Given the description of an element on the screen output the (x, y) to click on. 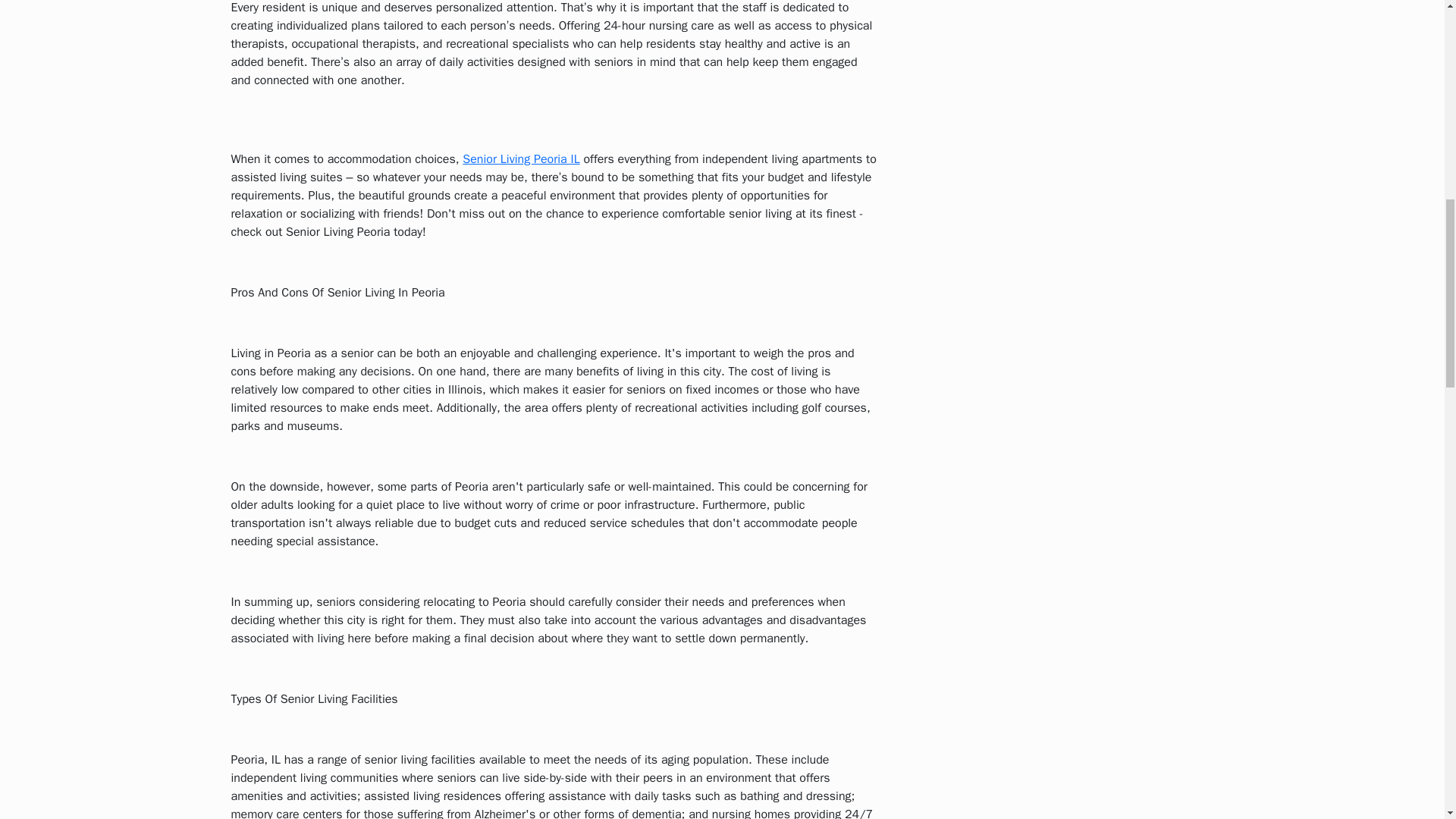
Senior Living Peoria IL (521, 159)
